Given the description of an element on the screen output the (x, y) to click on. 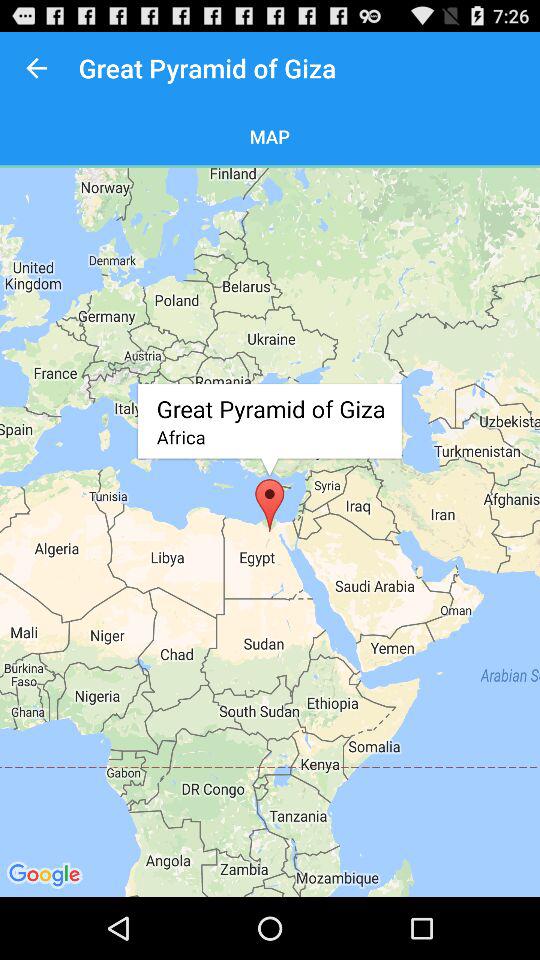
click icon at the center (270, 531)
